Given the description of an element on the screen output the (x, y) to click on. 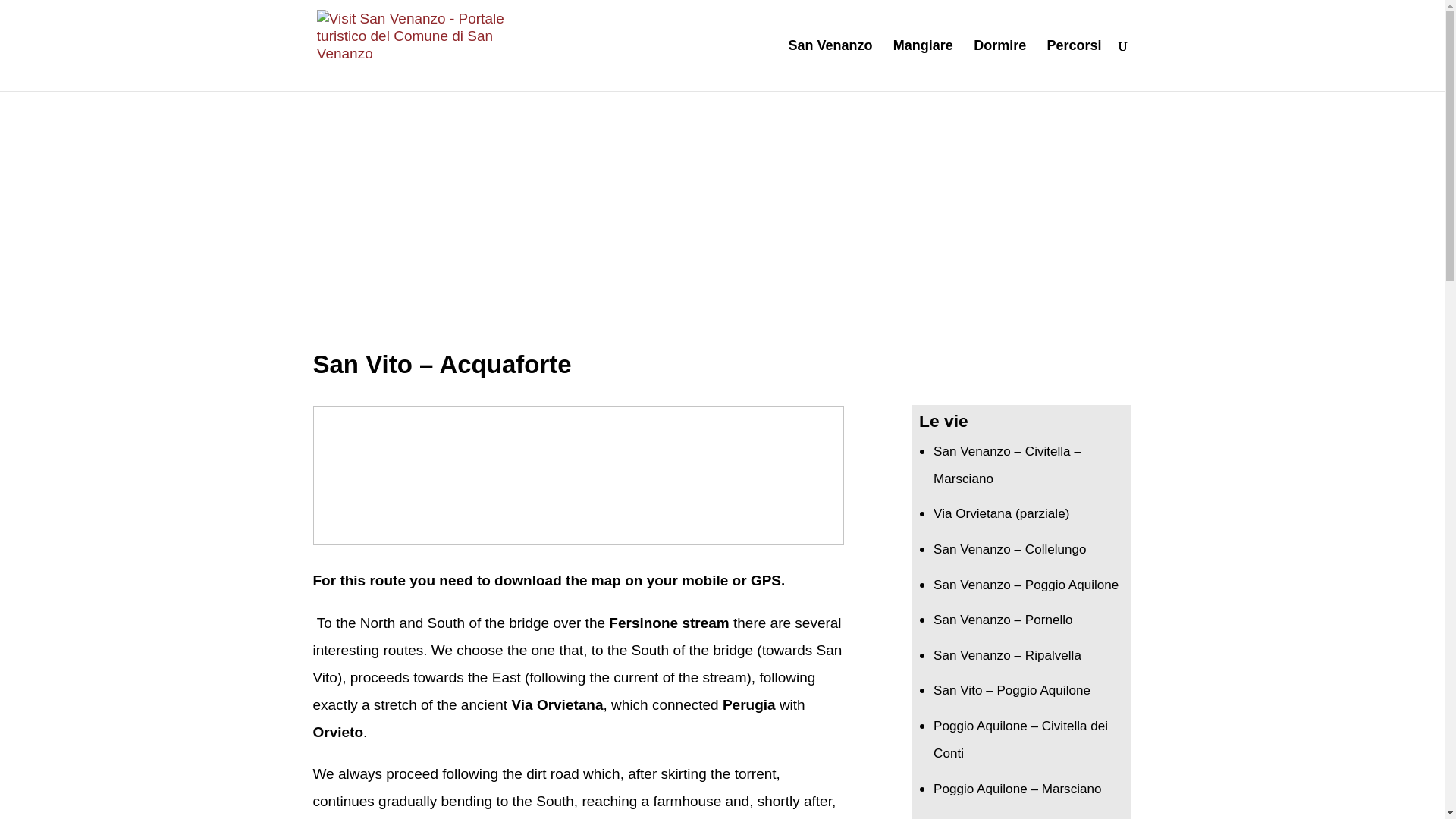
Percorsi (1073, 65)
San Venanzo (830, 65)
Dormire (1000, 65)
Mangiare (923, 65)
